Given the description of an element on the screen output the (x, y) to click on. 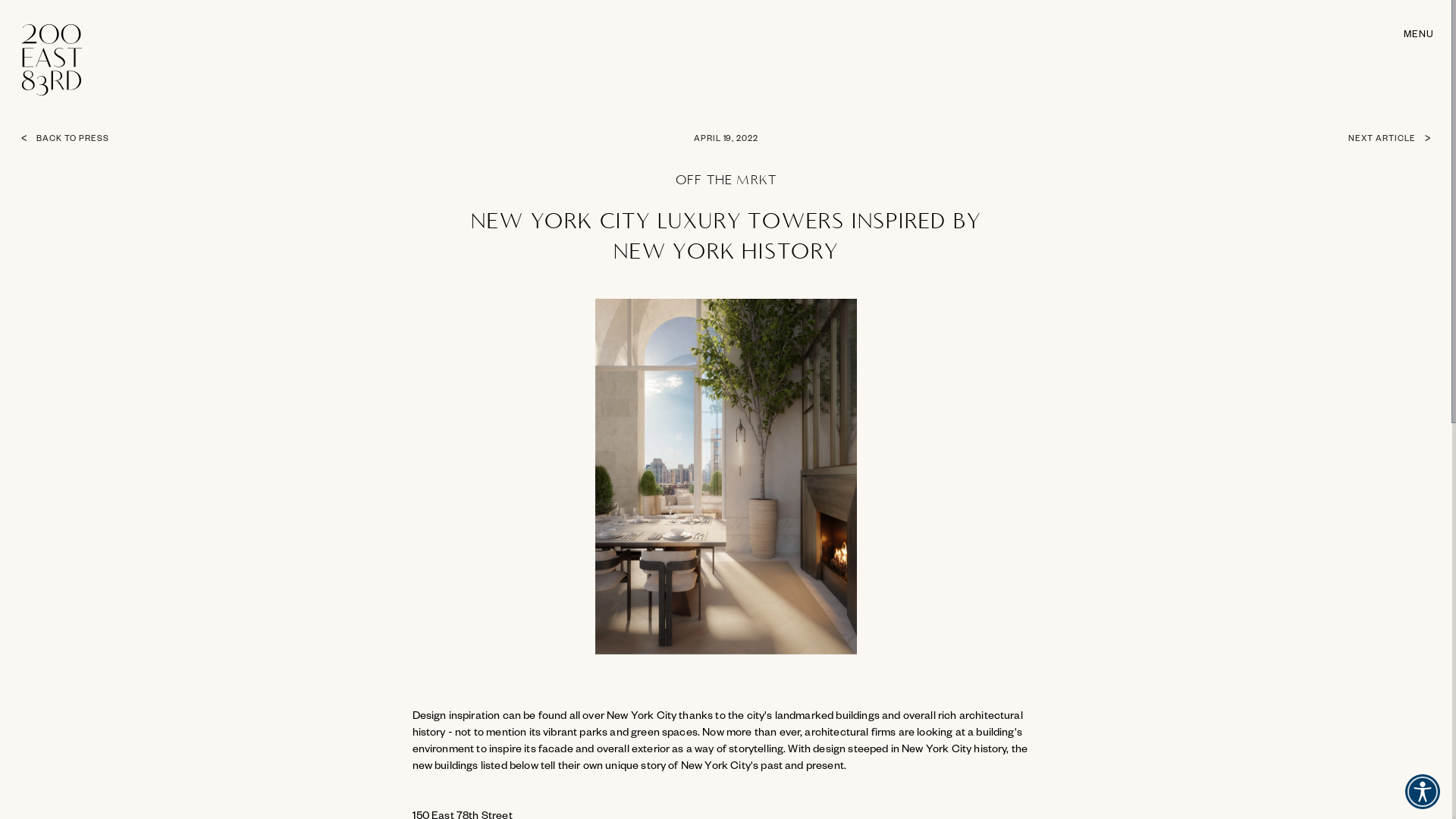
BACK TO PRESS Element type: text (108, 139)
NEXT ARTICLE Element type: text (1343, 139)
